Given the description of an element on the screen output the (x, y) to click on. 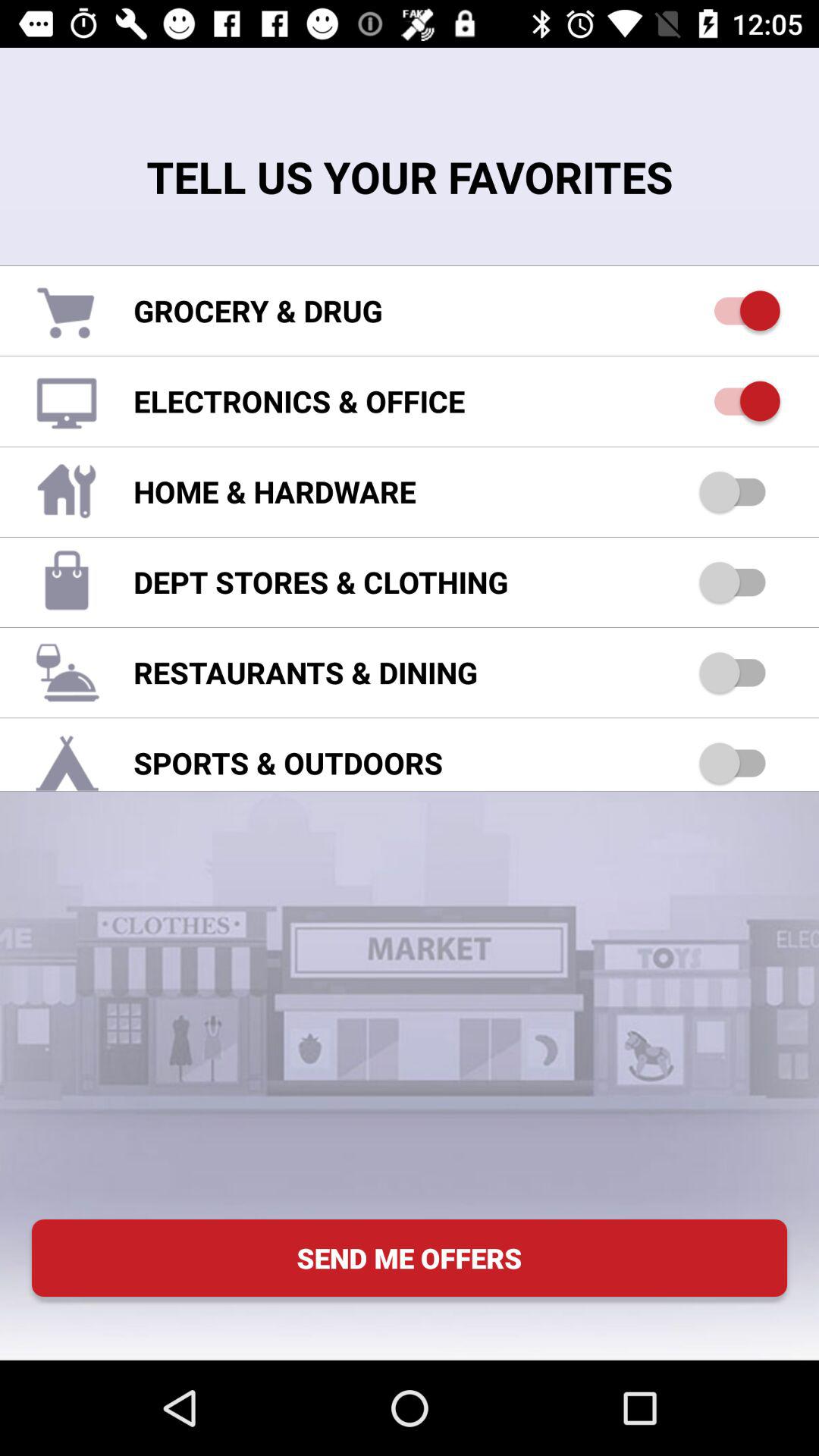
toggle restaurant dining option (739, 672)
